Given the description of an element on the screen output the (x, y) to click on. 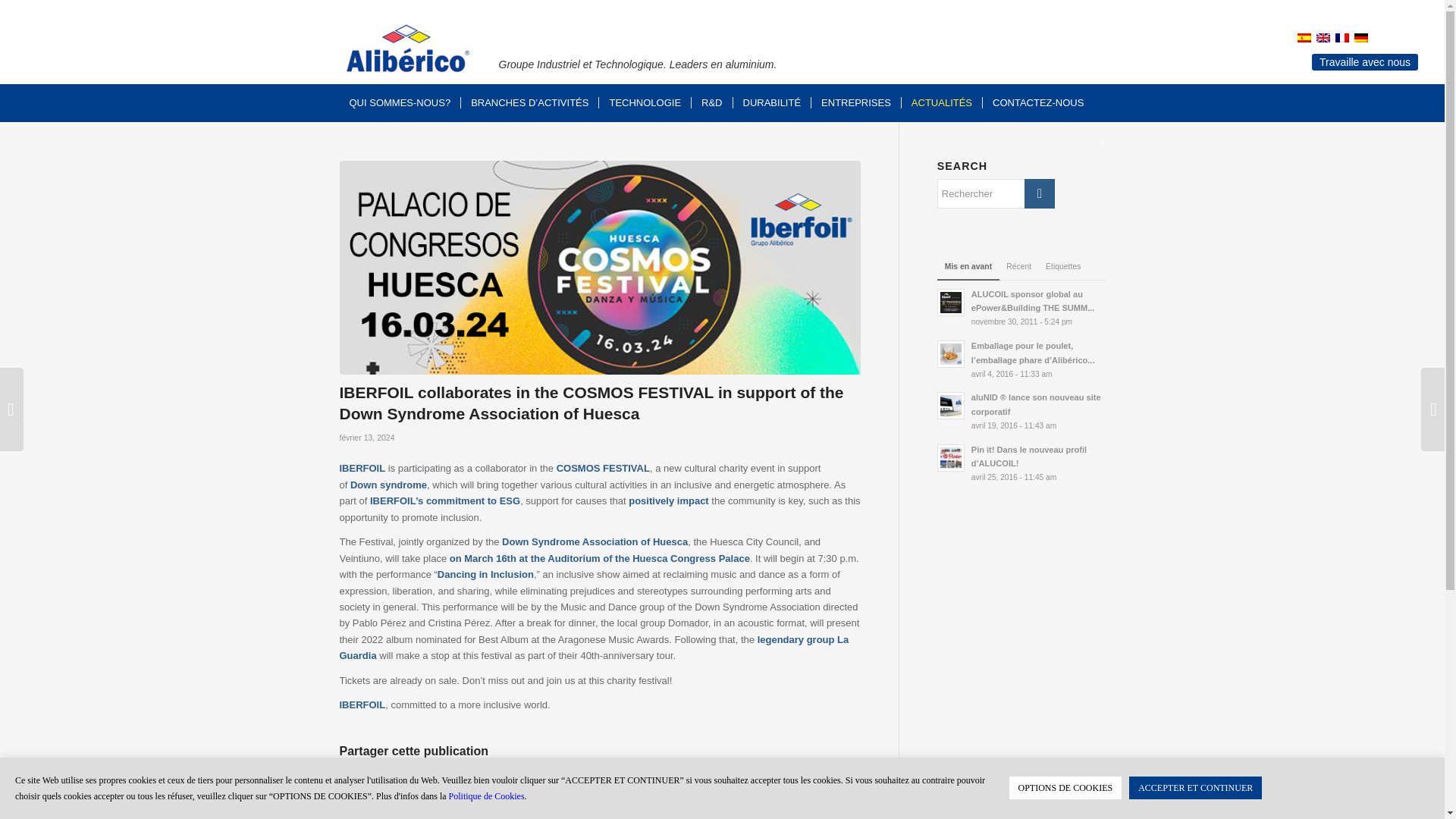
IBERFOIL (362, 704)
English (1323, 37)
TECHNOLOGIE (644, 103)
COSMOS FESTIVAL (602, 468)
Travaille avec nous (1364, 61)
QUI SOMMES-NOUS? (400, 103)
IBERFOIL (362, 468)
CONTACTEZ-NOUS (1037, 103)
Down Syndrome Association of Huesca (594, 541)
ENTREPRISES (855, 103)
logo (407, 49)
IBERFOIL (391, 500)
Deutsch (1361, 37)
